Given the description of an element on the screen output the (x, y) to click on. 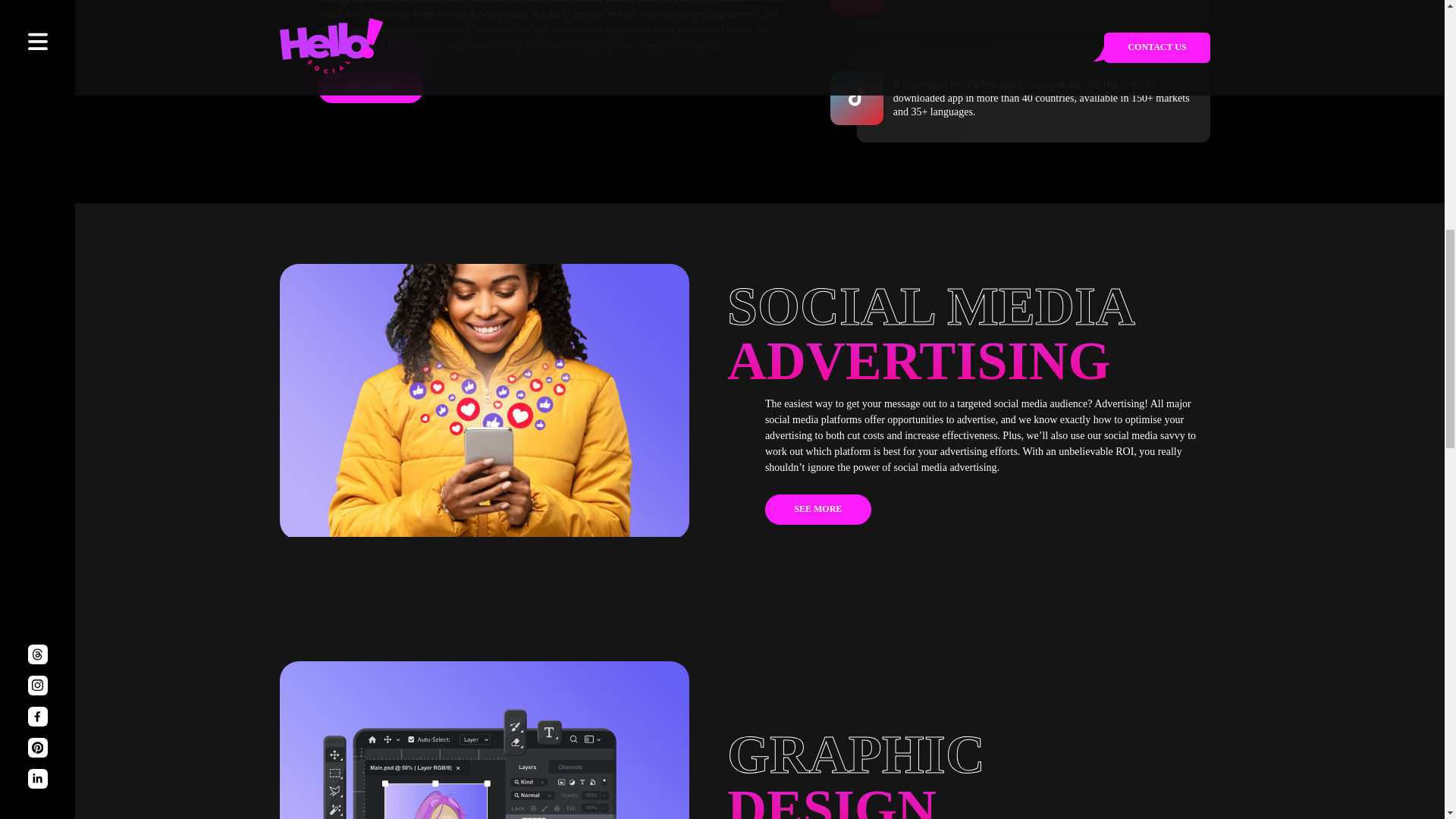
SEE MORE (370, 87)
SEE MORE (817, 509)
